Given the description of an element on the screen output the (x, y) to click on. 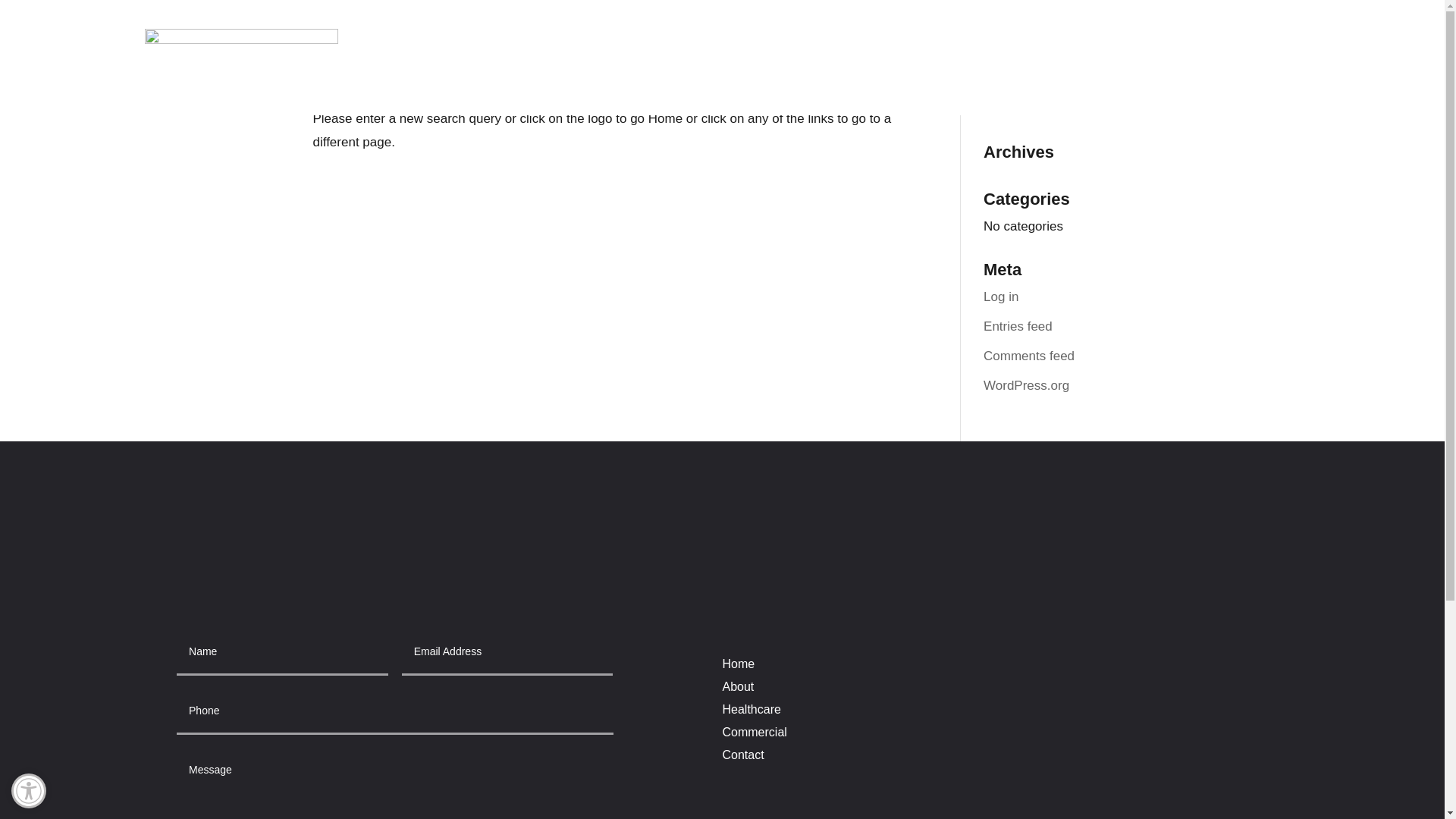
About (738, 689)
Commercial (1181, 60)
Comments feed (1029, 355)
Commercial (754, 735)
Home (738, 667)
Log in (1000, 296)
Contact (742, 758)
Accessibility Tools (28, 790)
About (1001, 60)
Search (1106, 59)
Entries feed (1018, 326)
Search (1106, 59)
WordPress.org (1026, 385)
Healthcare (1080, 60)
Healthcare (751, 712)
